Given the description of an element on the screen output the (x, y) to click on. 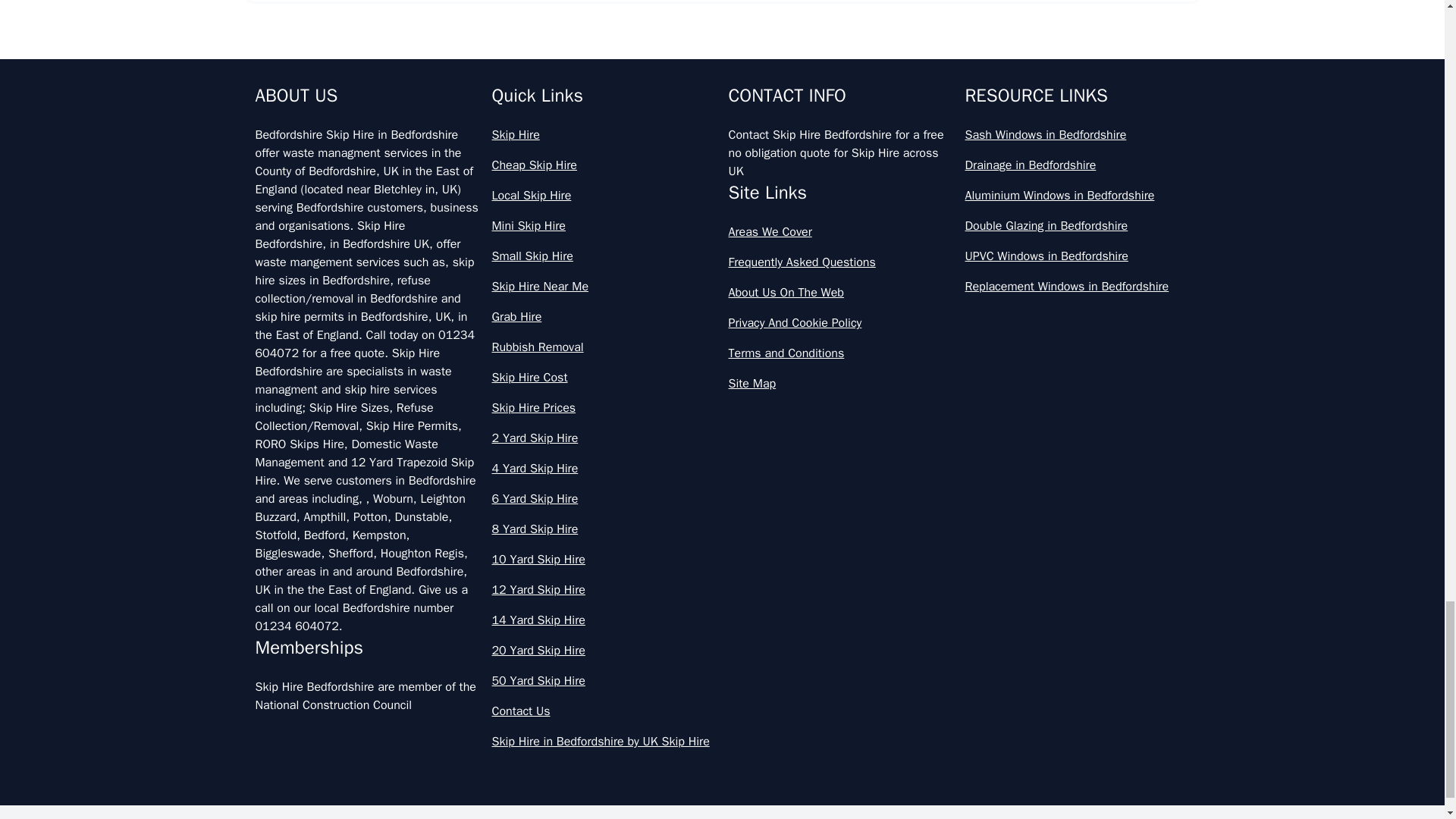
How Much Does A Skip Bin Cost To Hire In Bedfordshire (722, 744)
Skip Hire in Bedfordshire by UK Skip Hire (604, 741)
Sash Windows in Bedfordshire (1076, 135)
Aluminium Windows in Bedfordshire (1076, 195)
How Much Do Skip Cost To Hire In Bedfordshire (722, 143)
How Much Does A Large Skip Cost To Hire In Bedfordshire (722, 611)
How Much Do Skip Bins Cost To Hire In Bedfordshire (722, 77)
Site Map (840, 383)
How Much Does A Skip Cost To Hire In Bedfordshire (722, 803)
How Much Does A 2 Yard Skip Cost To Hire In Bedfordshire (722, 344)
How Much Cost To Hire A Skip In Bedfordshire (722, 17)
UPVC Windows in Bedfordshire (1076, 256)
How Much Do Skips Cost To Hire Near Me In Bedfordshire (722, 277)
How Much Does A 4 Yard Skip Cost To Hire In Bedfordshire (722, 477)
Replacement Windows in Bedfordshire (1076, 286)
